Given the description of an element on the screen output the (x, y) to click on. 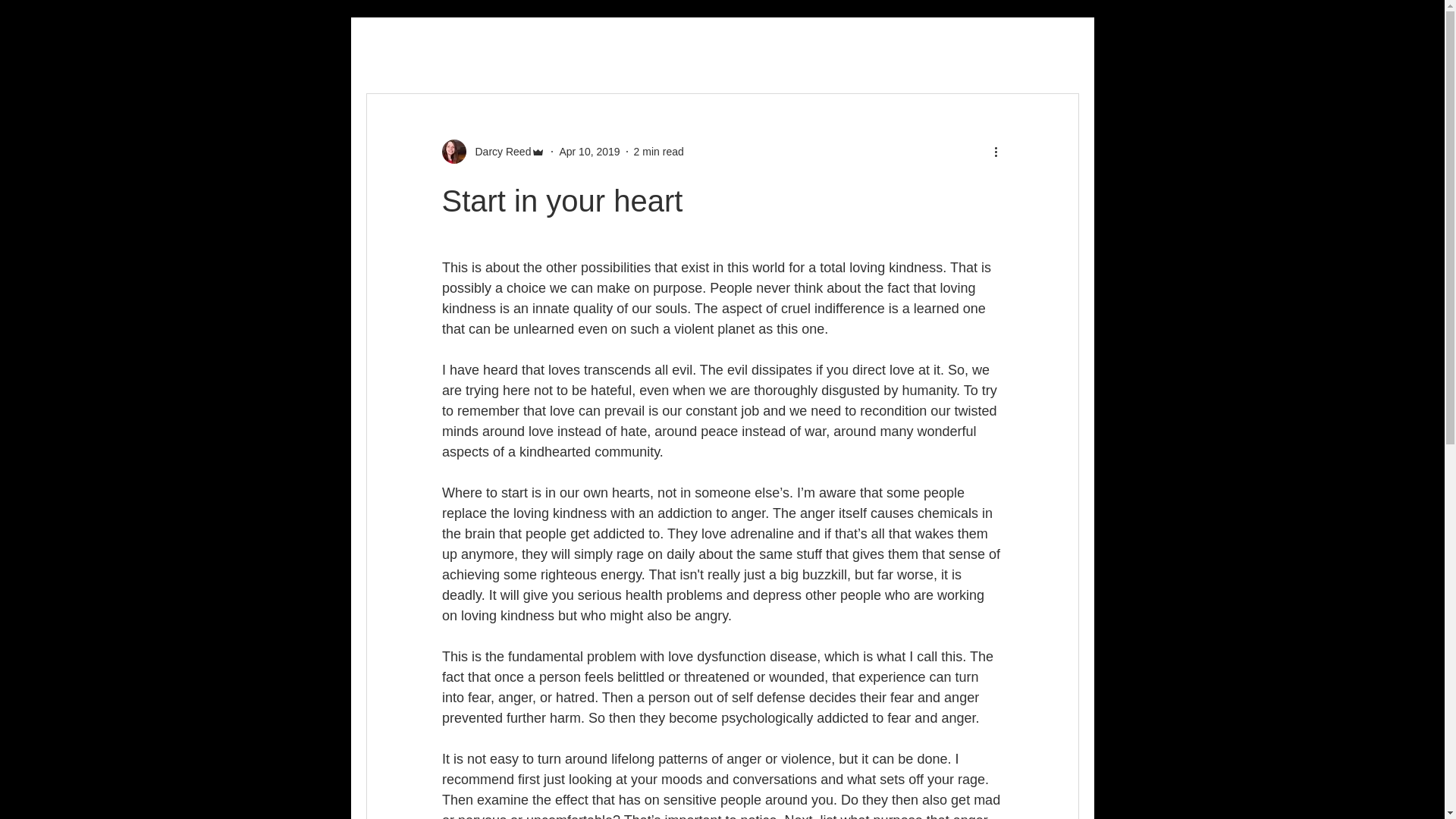
2 min read (658, 151)
Darcy Reed (498, 151)
Apr 10, 2019 (589, 151)
